Given the description of an element on the screen output the (x, y) to click on. 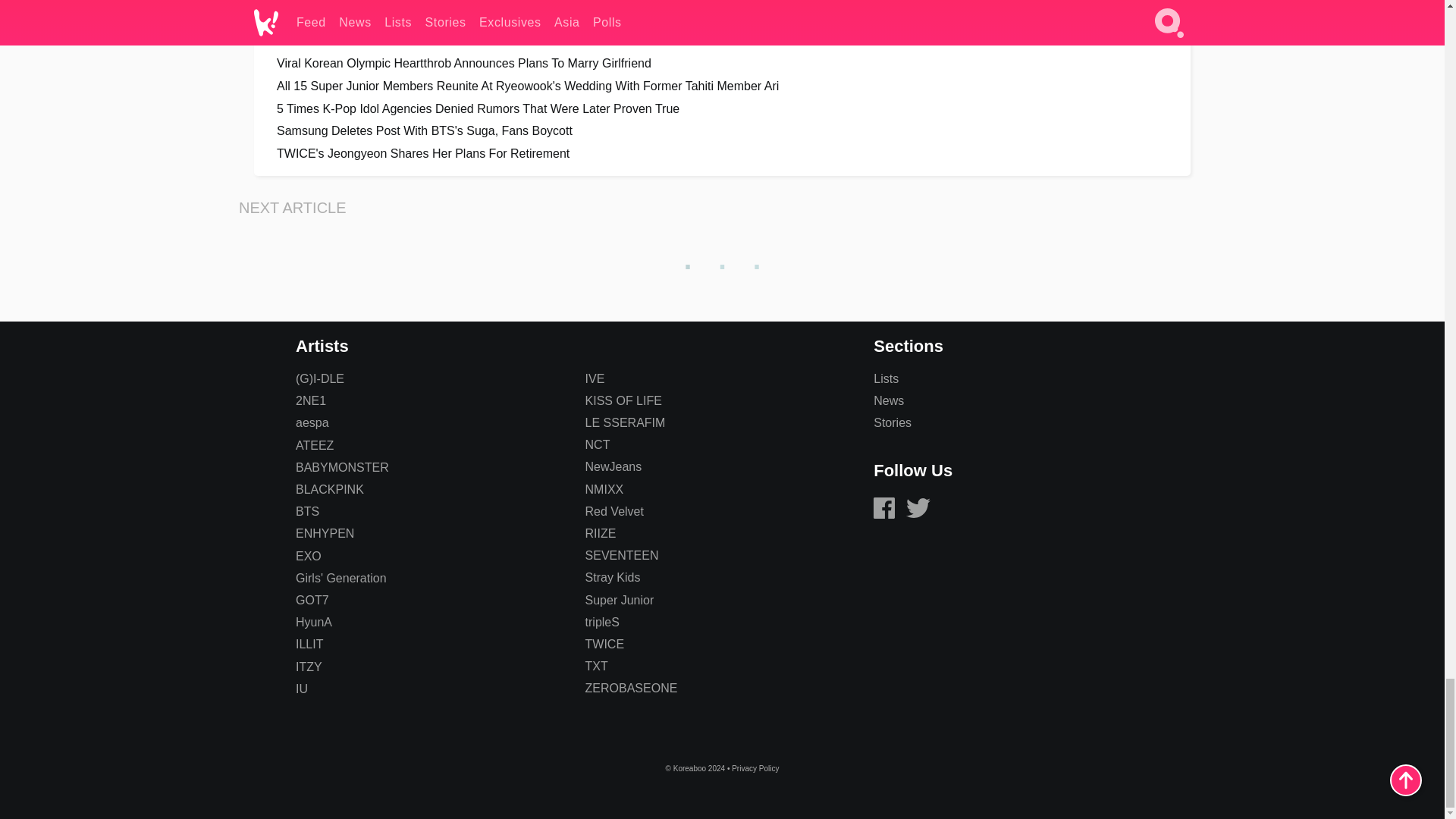
Samsung Deletes Post With BTS's Suga, Fans Boycott (721, 130)
GOT7 (312, 599)
HyunA (313, 621)
aespa (312, 422)
Girls' Generation (341, 577)
TWICE's Jeongyeon Shares Her Plans For Retirement (721, 153)
ILLIT (309, 644)
IVE (595, 378)
BTS (306, 511)
ATEEZ (314, 445)
